Given the description of an element on the screen output the (x, y) to click on. 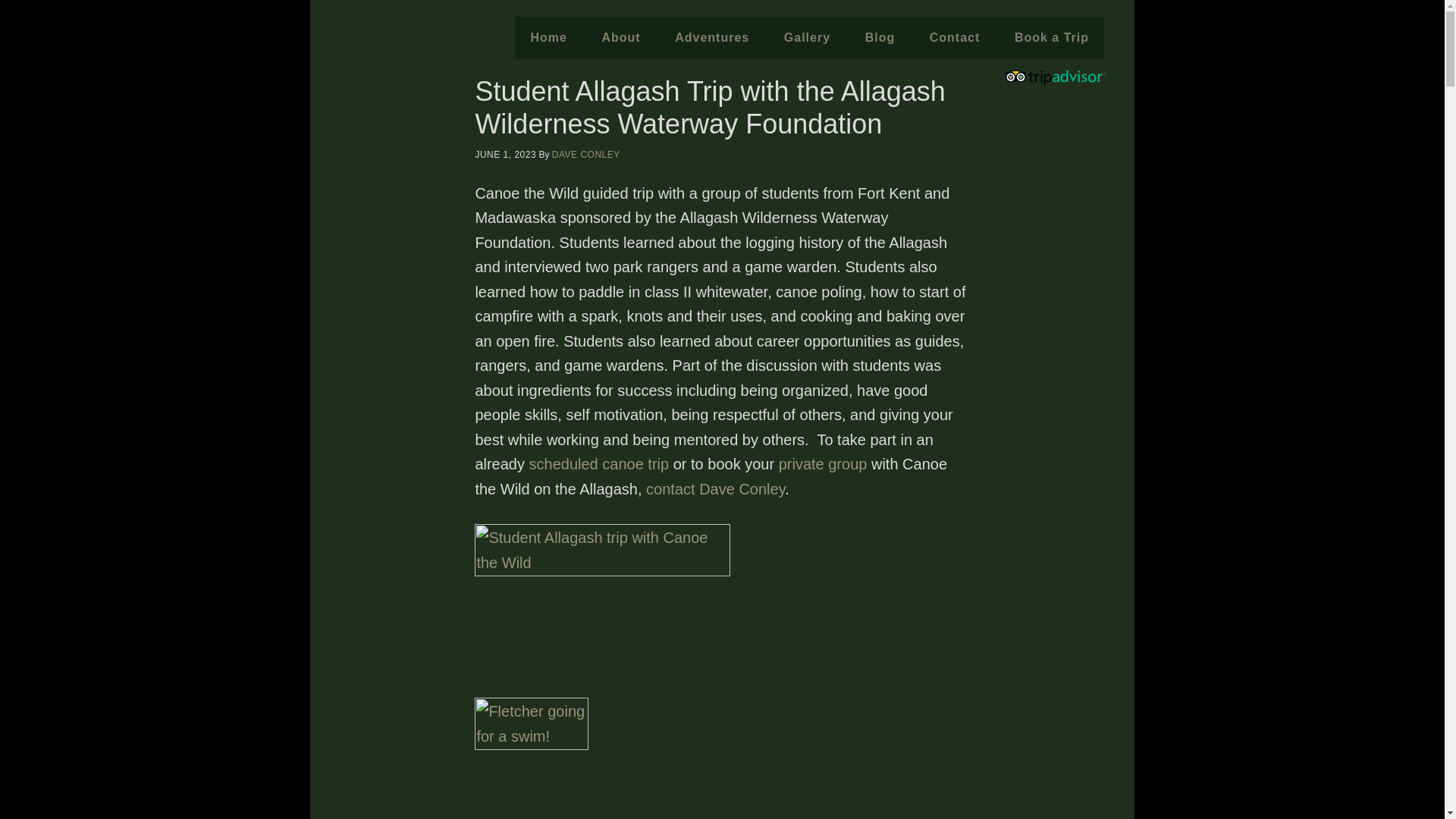
Canoe the Wild on Trip Advisor (1062, 81)
Gallery (806, 37)
Adventures (711, 37)
Student Allagash trip with Canoe the Wild (602, 609)
About (620, 37)
Fletcher going for a swim! (531, 758)
Home (547, 37)
CANOE THE WILD (416, 77)
